Given the description of an element on the screen output the (x, y) to click on. 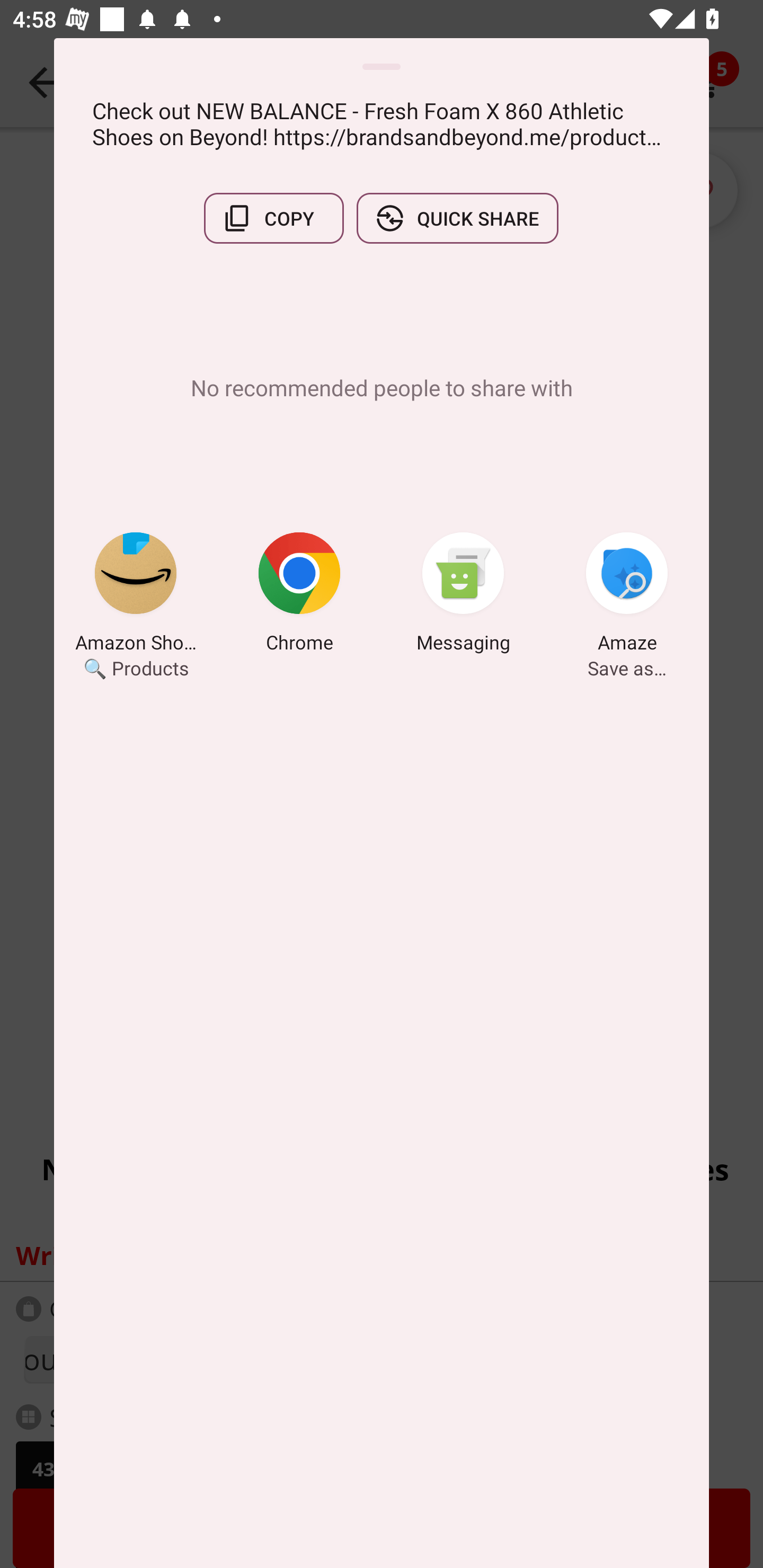
COPY (273, 218)
QUICK SHARE (457, 218)
Amazon Shopping 🔍 Products (135, 594)
Chrome (299, 594)
Messaging (463, 594)
Amaze Save as… (626, 594)
